Given the description of an element on the screen output the (x, y) to click on. 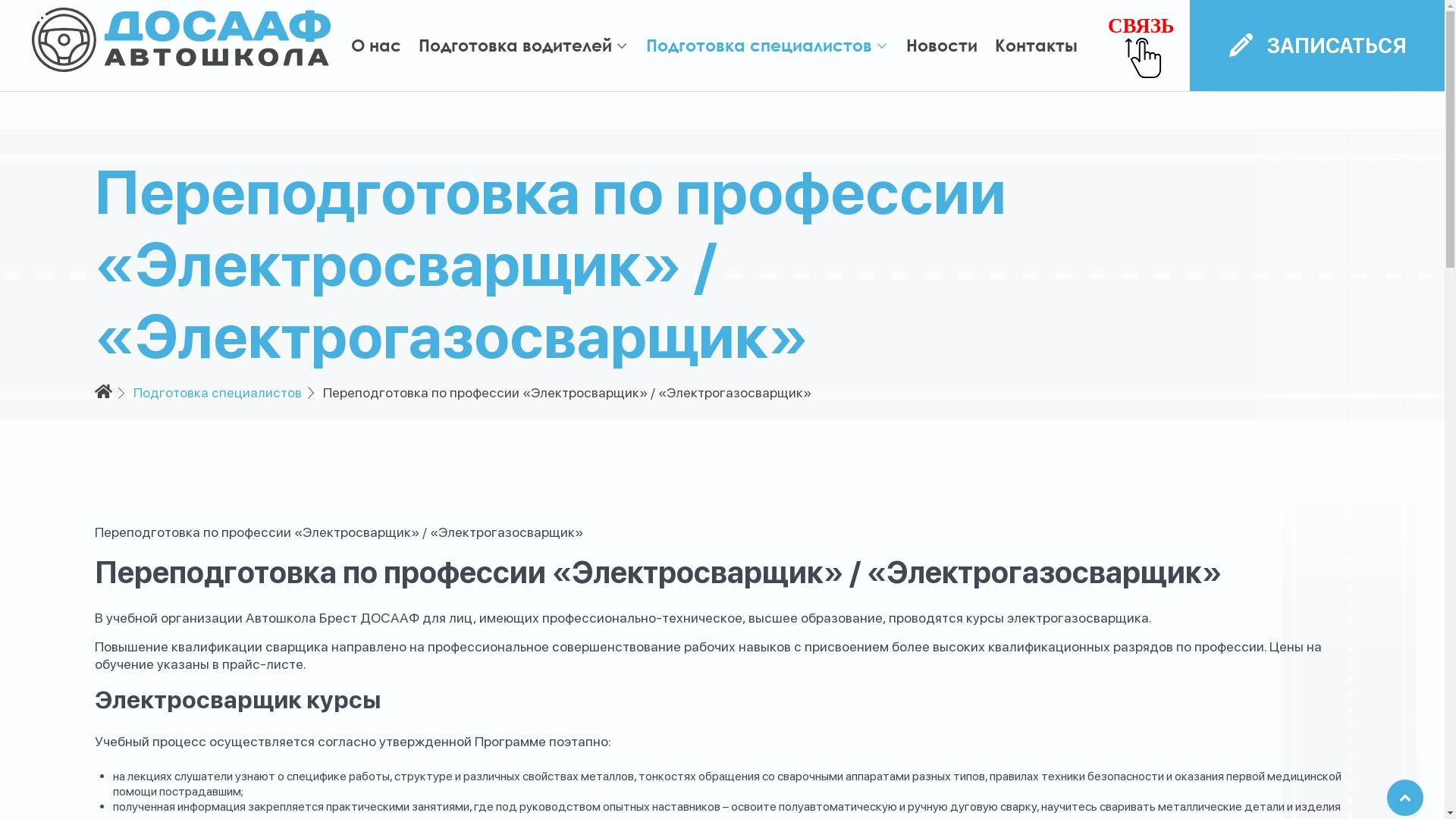
Back to top Element type: hover (1404, 797)
